Given the description of an element on the screen output the (x, y) to click on. 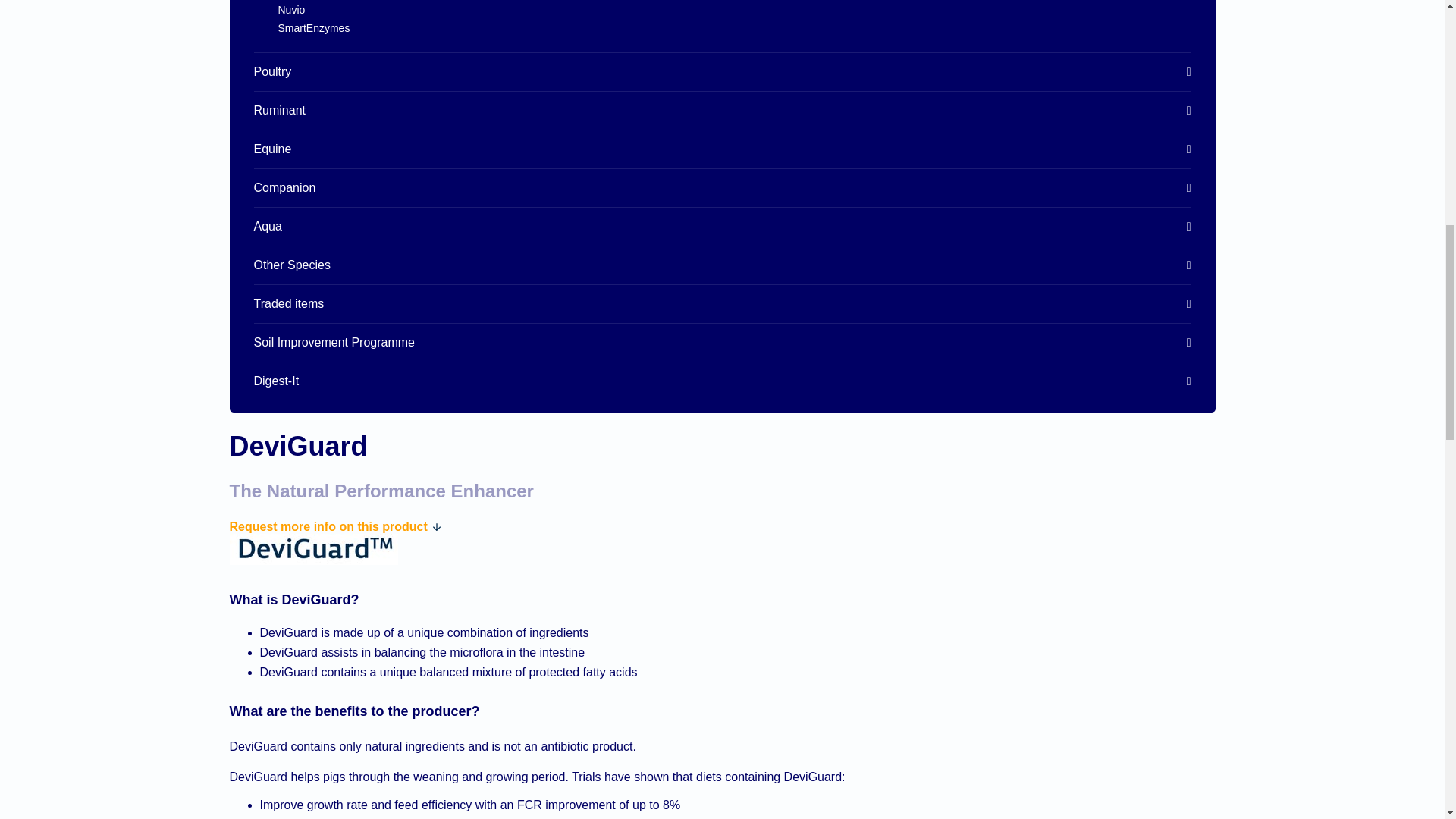
Nuvio (734, 9)
SmartEnzymes (734, 28)
